Given the description of an element on the screen output the (x, y) to click on. 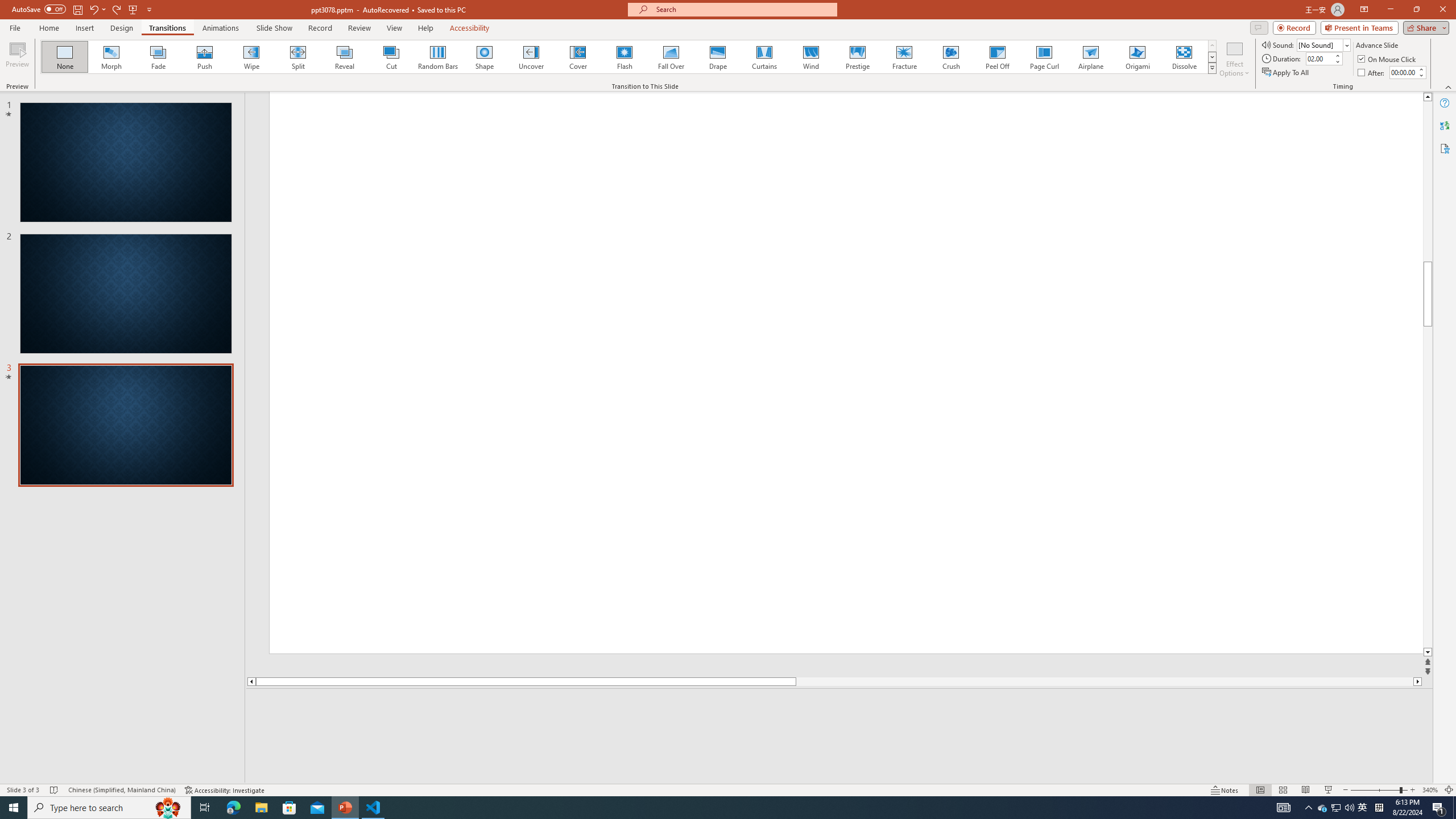
Morph (111, 56)
Peel Off (997, 56)
